Given the description of an element on the screen output the (x, y) to click on. 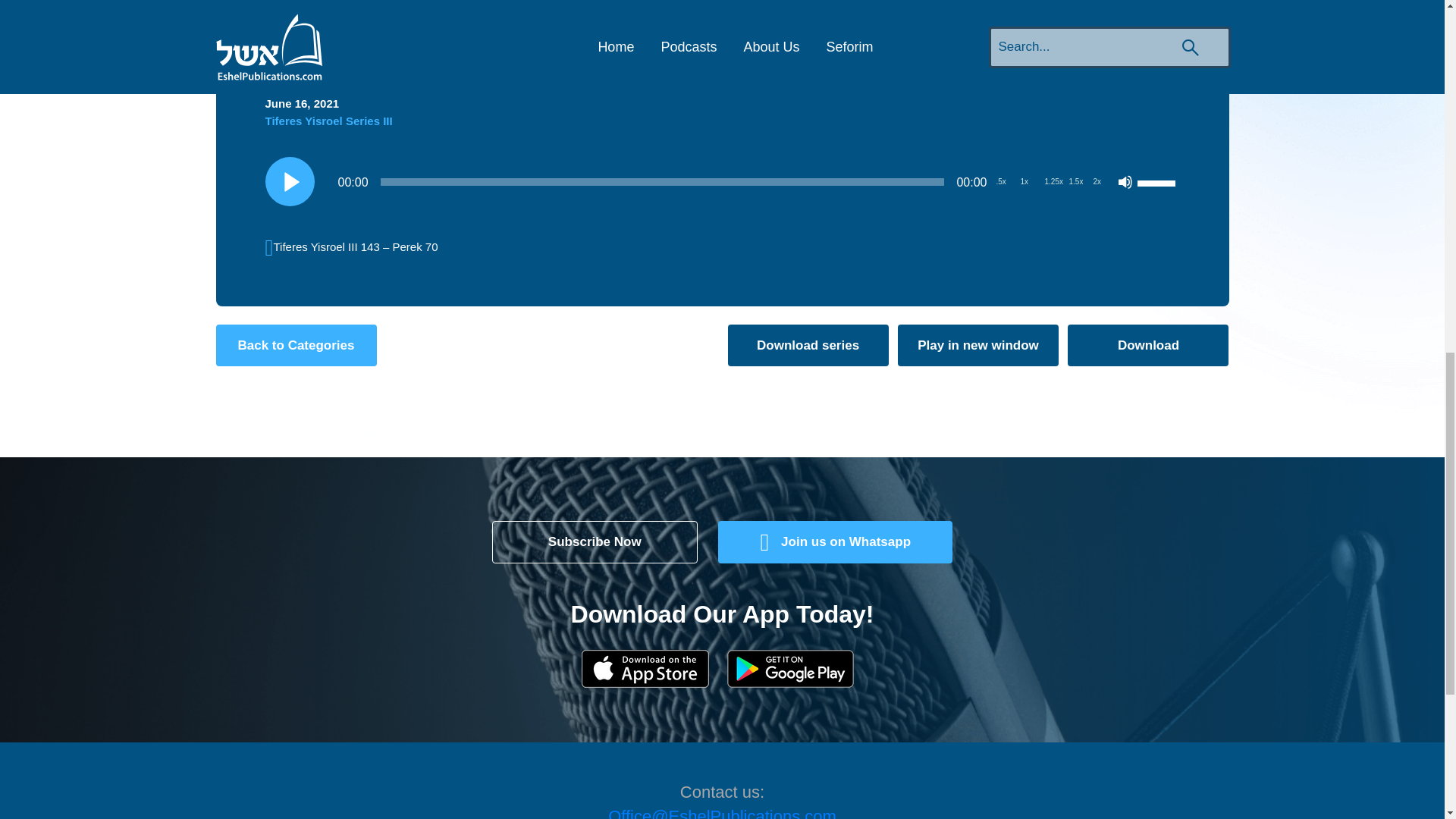
Play in new window (978, 345)
1.25x (1053, 181)
Join us on Whatsapp (834, 541)
Play (289, 182)
1.5x (1075, 181)
Playback Speed 1.5x (1075, 181)
Download series (808, 345)
Playback Speed 1.25x (1053, 181)
144 shiurim, 3.84GB (808, 345)
Mute (1125, 181)
Download (1147, 345)
Back to Categories (295, 345)
Subscribe Now (594, 541)
